Given the description of an element on the screen output the (x, y) to click on. 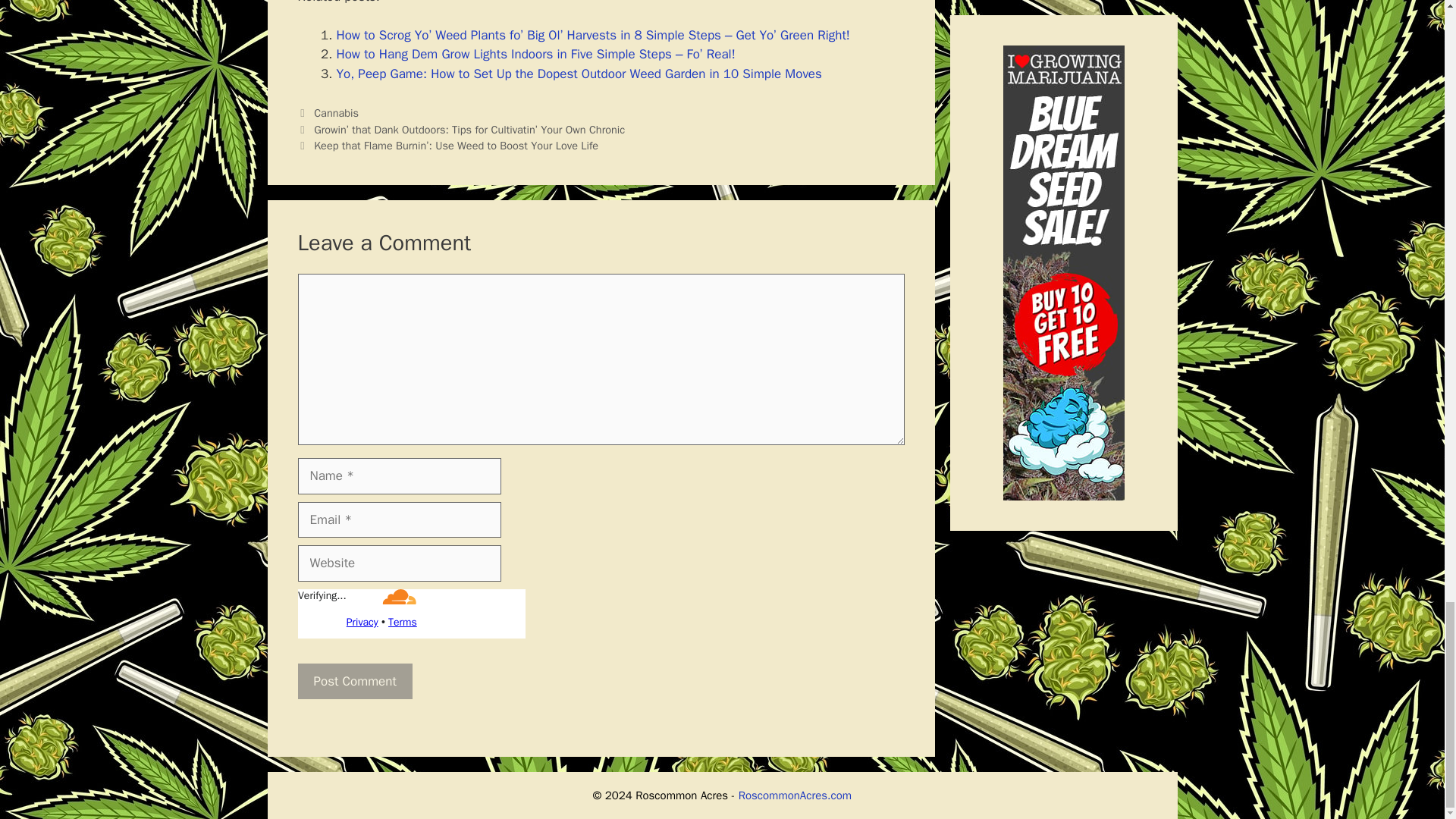
RoscommonAcres.com (794, 795)
Cannabis (336, 112)
Post Comment (354, 681)
Post Comment (354, 681)
